Given the description of an element on the screen output the (x, y) to click on. 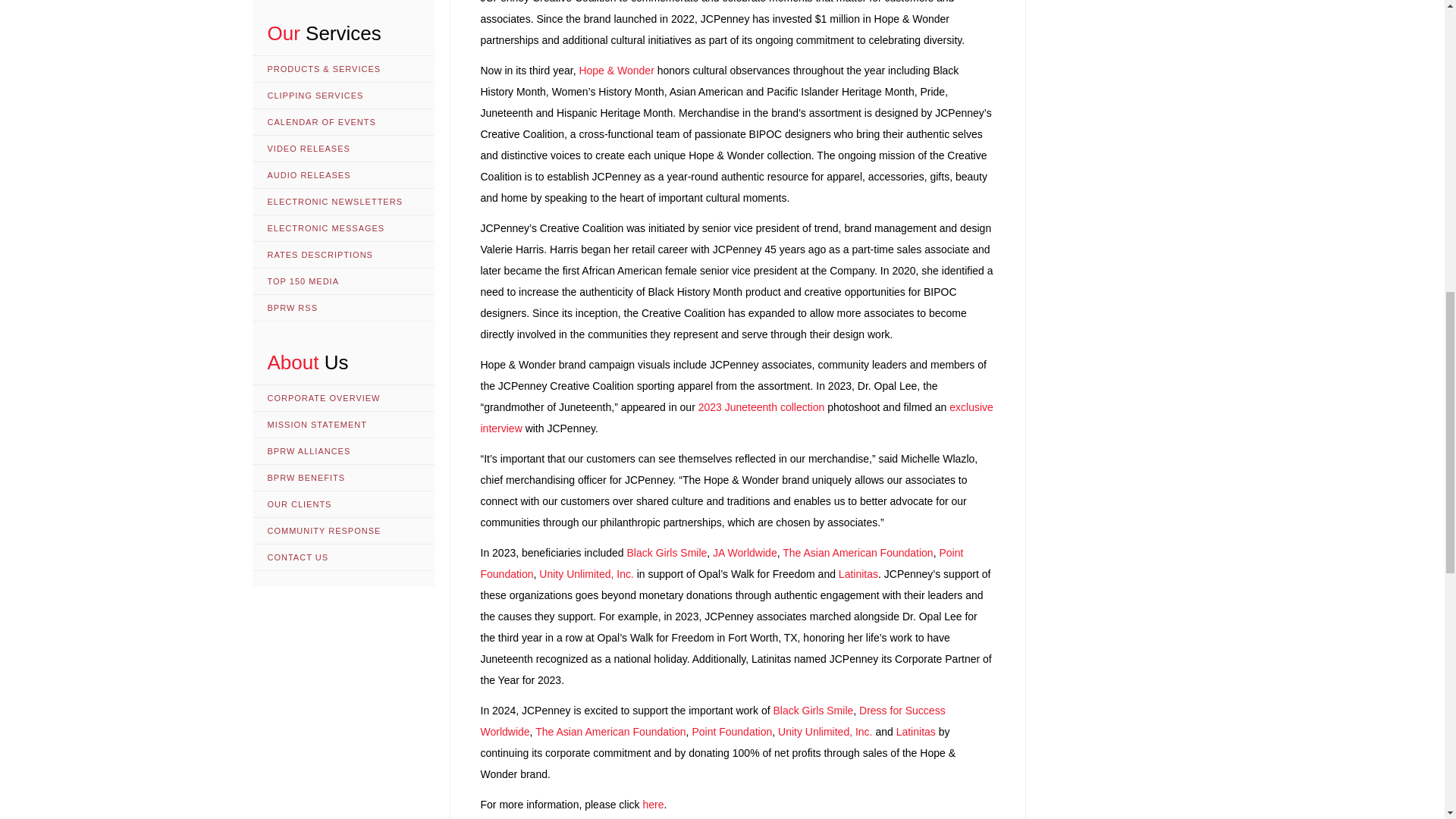
VIDEO RELEASES (342, 148)
CALENDAR OF EVENTS (342, 121)
AUDIO RELEASES (342, 175)
CLIPPING SERVICES (342, 95)
